Given the description of an element on the screen output the (x, y) to click on. 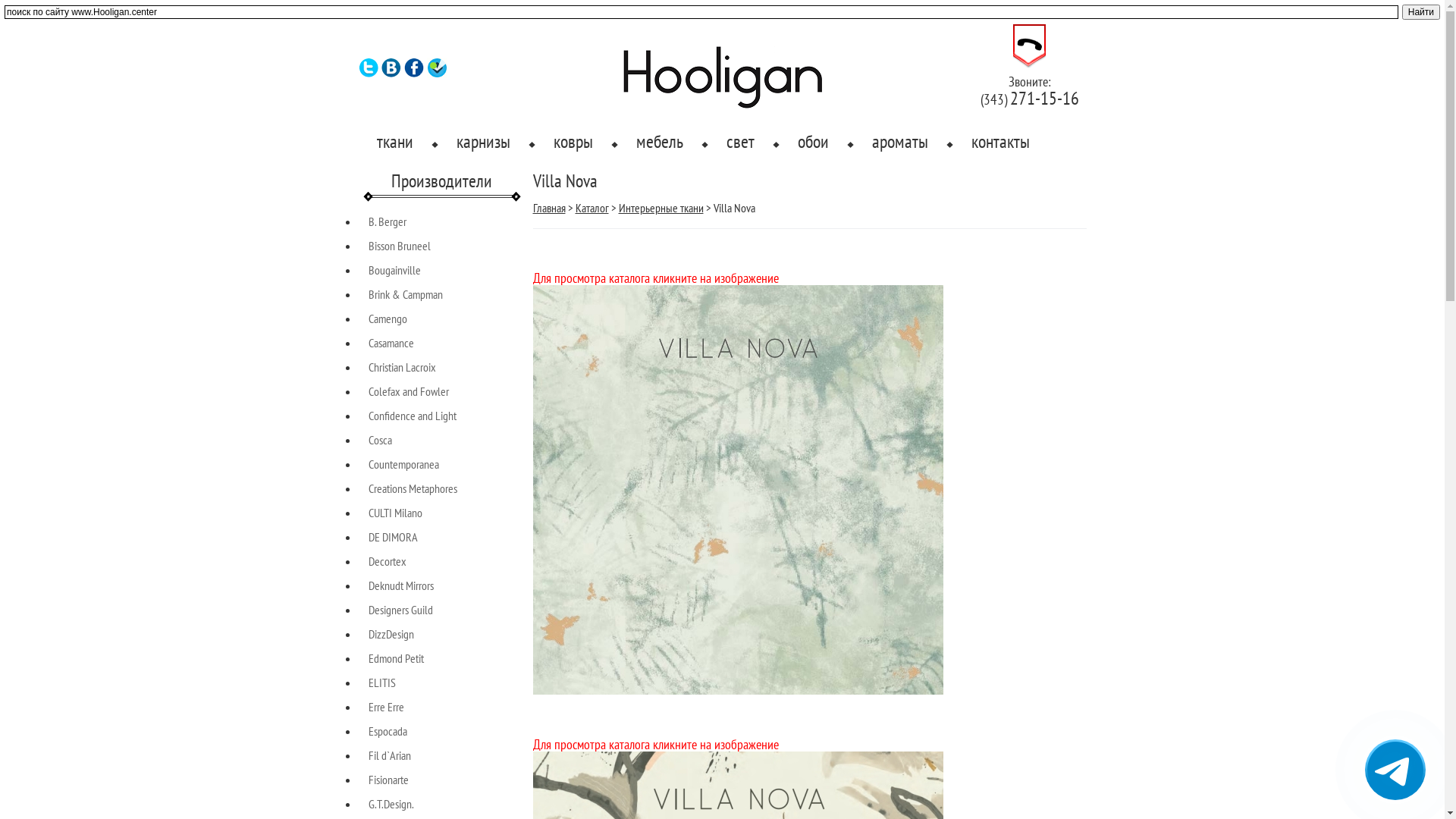
Countemporanea Element type: text (403, 463)
Erre Erre Element type: text (386, 706)
Decortex Element type: text (387, 560)
Facebook Element type: hover (413, 73)
Edmond Petit Element type: text (395, 657)
Bisson Bruneel Element type: text (399, 245)
DizzDesign Element type: text (391, 633)
Fisionarte Element type: text (388, 779)
Twitter Element type: hover (367, 73)
Designers Guild Element type: text (400, 609)
Vk Element type: hover (390, 73)
Foursquare Element type: hover (436, 73)
CULTI Milano Element type: text (395, 512)
B. Berger Element type: text (387, 221)
Deknudt Mirrors Element type: text (400, 585)
Cosca Element type: text (380, 439)
Camengo Element type: text (387, 318)
Bougainville Element type: text (394, 269)
Christian Lacroix Element type: text (402, 366)
Brink & Campman Element type: text (405, 293)
Creations Metaphores Element type: text (412, 487)
DE DIMORA Element type: text (392, 536)
Espocada Element type: text (387, 730)
Casamance Element type: text (391, 342)
G.T.Design. Element type: text (391, 803)
Colefax and Fowler Element type: text (408, 390)
Fil d`Arian Element type: text (389, 754)
Confidence and Light Element type: text (412, 415)
ELITIS Element type: text (381, 682)
